Given the description of an element on the screen output the (x, y) to click on. 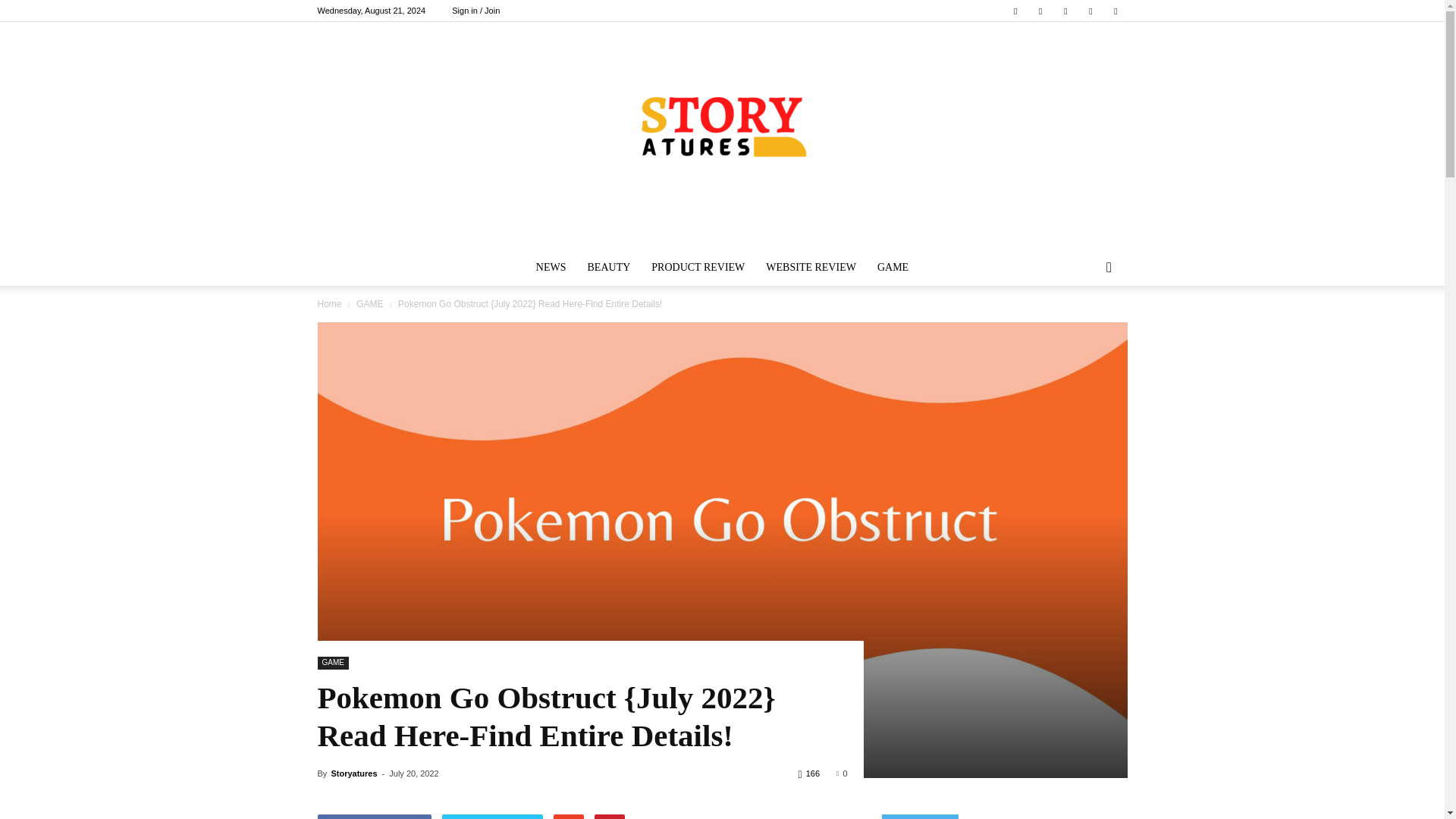
Search (1085, 328)
WEBSITE REVIEW (810, 267)
Vimeo (1065, 10)
Twitter (1040, 10)
VKontakte (1090, 10)
Youtube (1114, 10)
PRODUCT REVIEW (697, 267)
GAME (369, 303)
Home (328, 303)
